Given the description of an element on the screen output the (x, y) to click on. 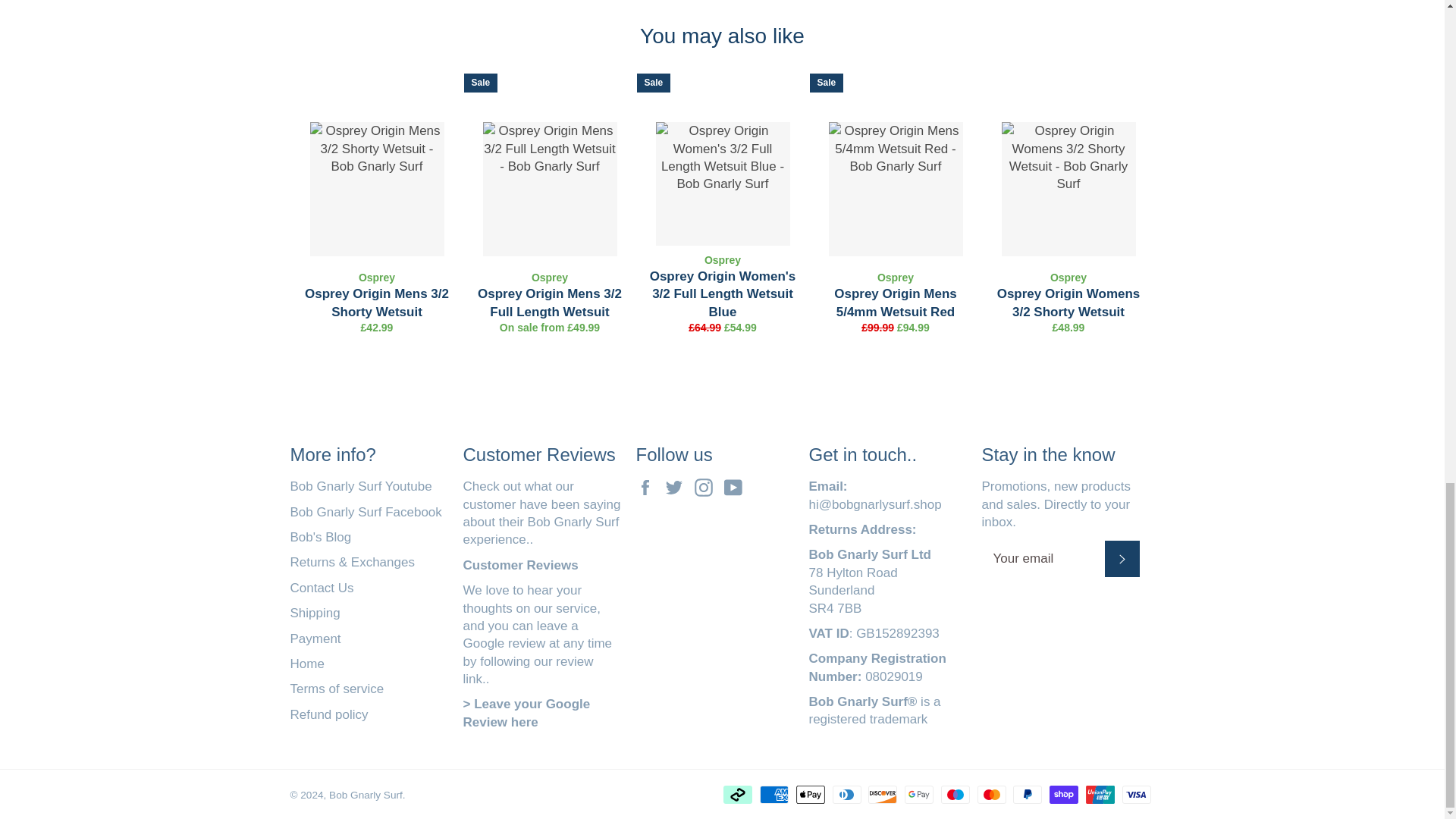
Bob Gnarly Surf on Facebook (647, 486)
Bob Gnarly Surf on YouTube (736, 486)
Bob Gnarly Surf on Twitter (677, 486)
Google Reviews (520, 564)
Bob Gnarly Surf on Instagram (707, 486)
